Given the description of an element on the screen output the (x, y) to click on. 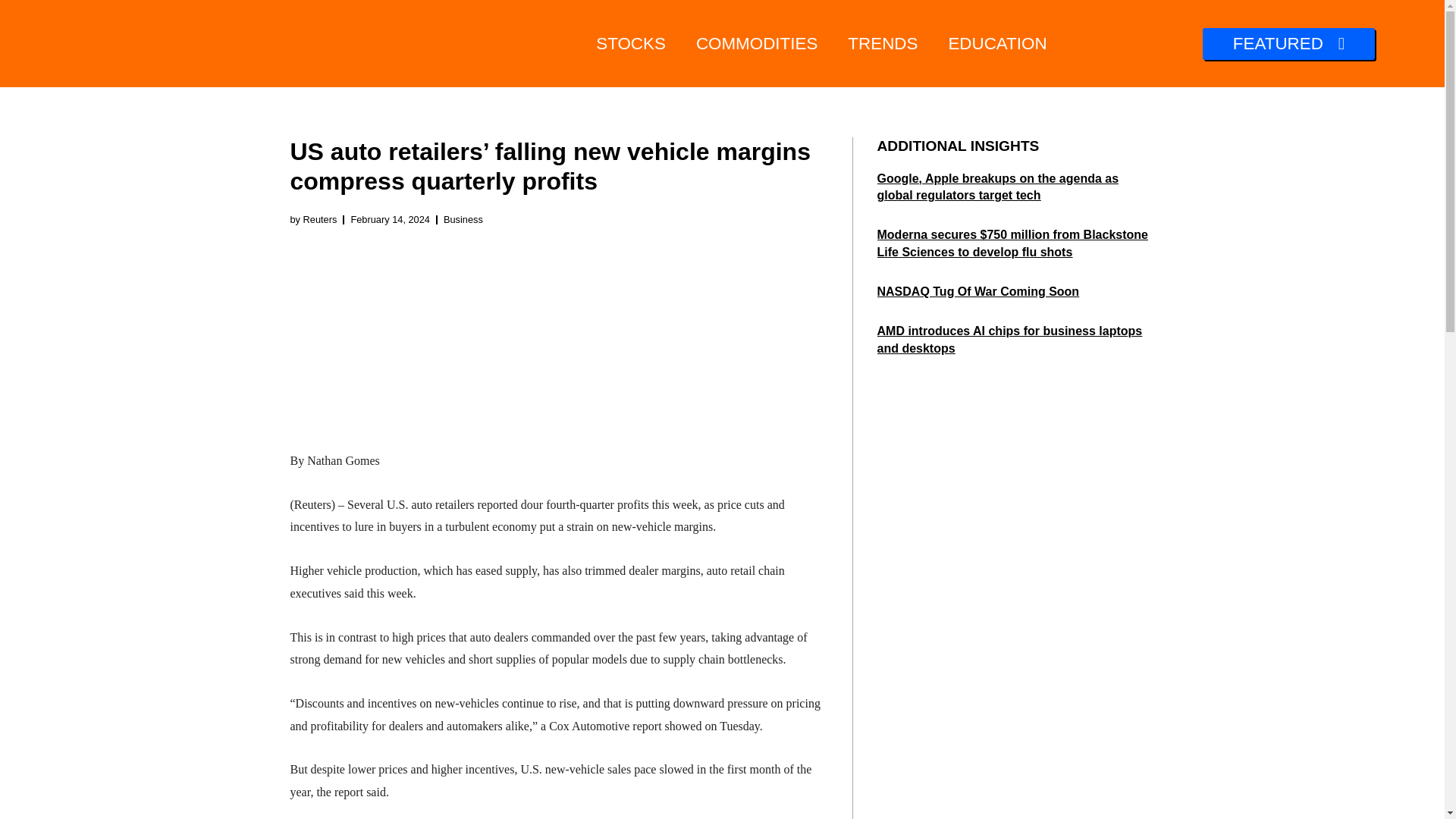
EDUCATION (997, 43)
by Reuters (312, 219)
NASDAQ Tug Of War Coming Soon (977, 291)
AMD introduces AI chips for business laptops and desktops (1008, 338)
TRENDS (882, 43)
February 14, 2024 (389, 219)
Business (463, 219)
FEATURED (1288, 43)
COMMODITIES (756, 43)
